Given the description of an element on the screen output the (x, y) to click on. 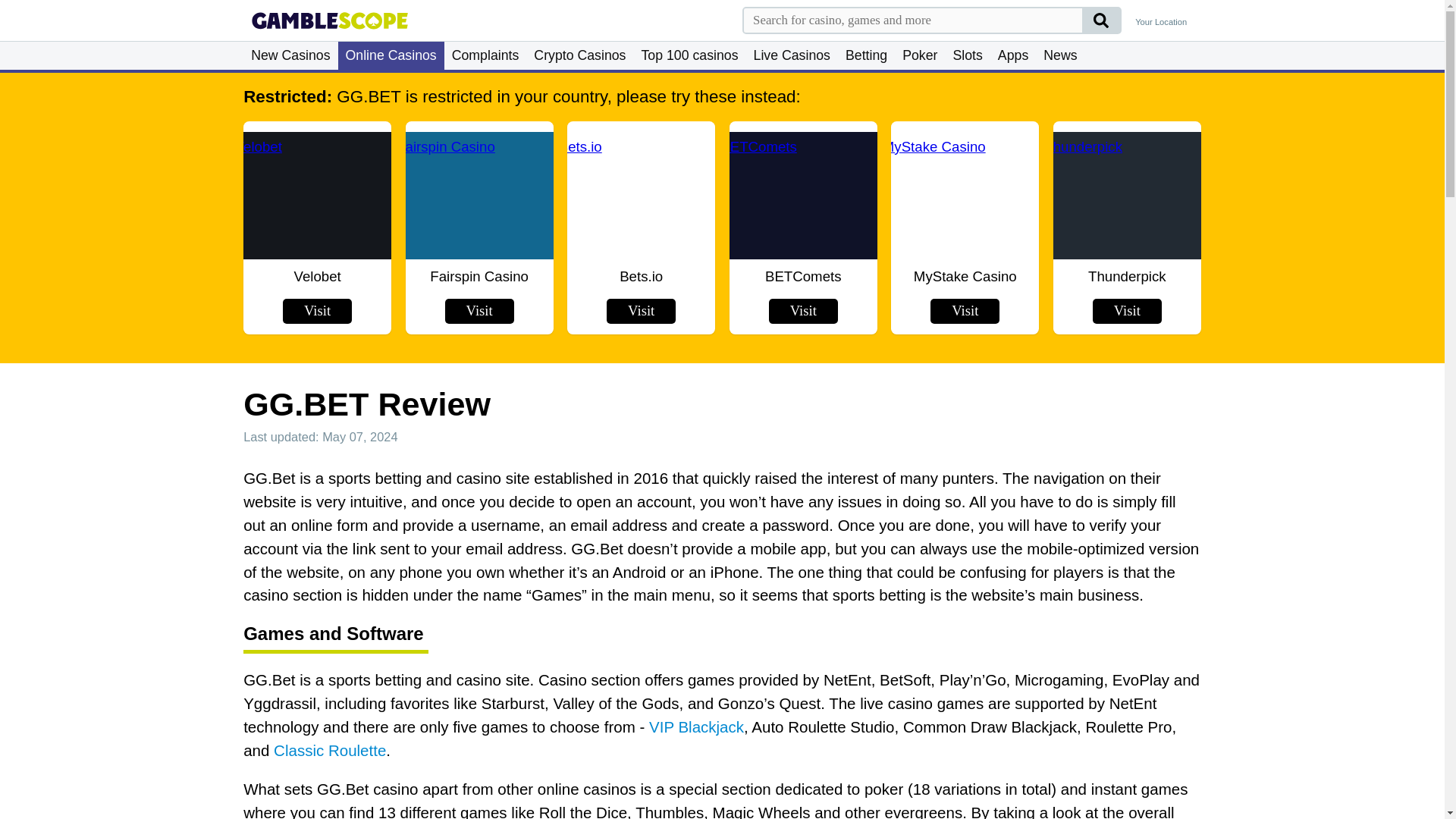
Bets.io (641, 195)
Fairspin Casino (478, 195)
MyStake Casino (964, 195)
BETComets (802, 195)
Gamblescope (329, 20)
Online Casinos (390, 55)
New Casinos (290, 55)
Velobet (317, 195)
Thunderpick (1126, 195)
